Given the description of an element on the screen output the (x, y) to click on. 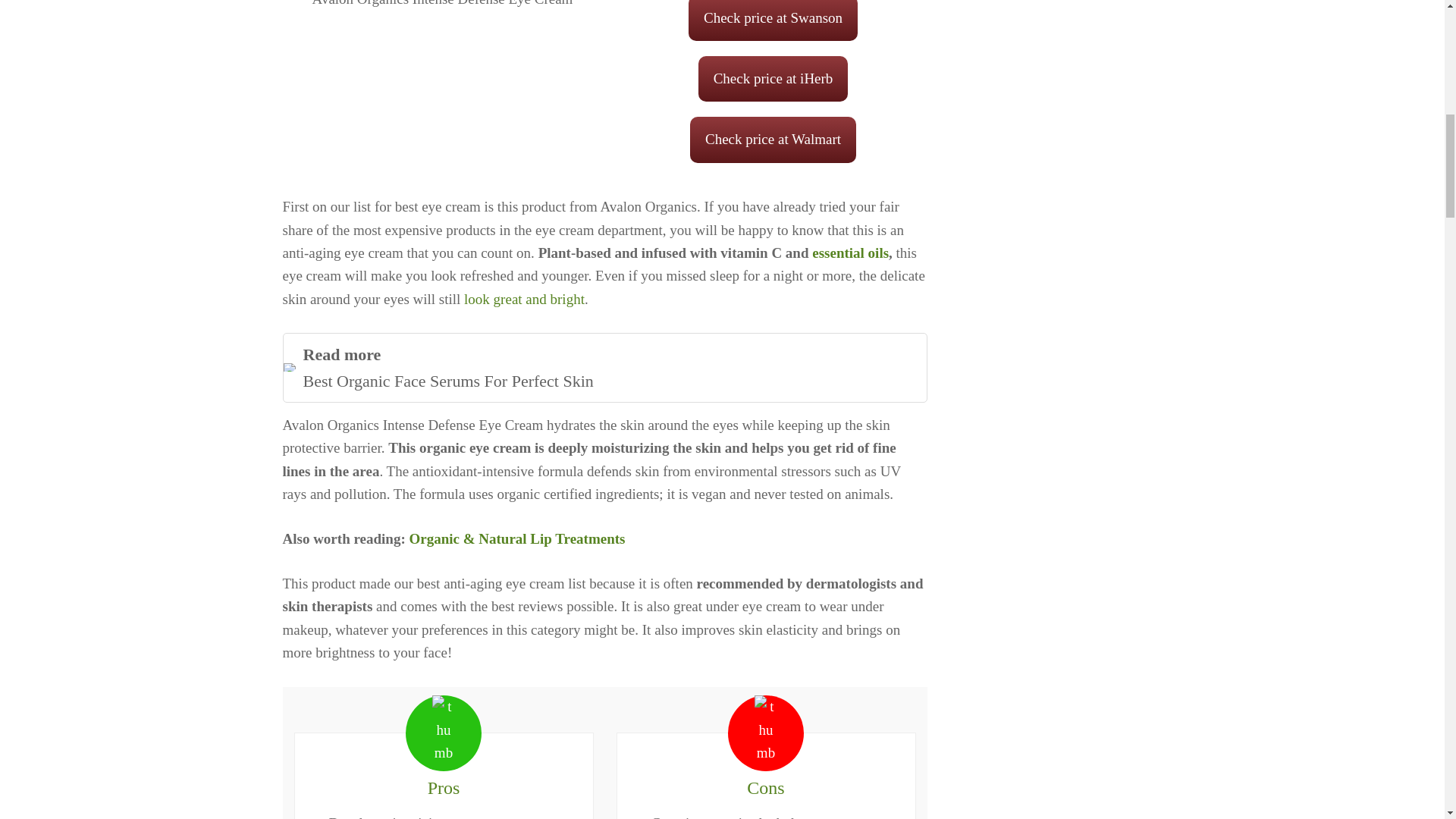
look great and bright (604, 367)
Check price at Swanson (524, 299)
essential oils (772, 20)
Check price at Walmart (850, 252)
Check price at iHerb (773, 139)
